Given the description of an element on the screen output the (x, y) to click on. 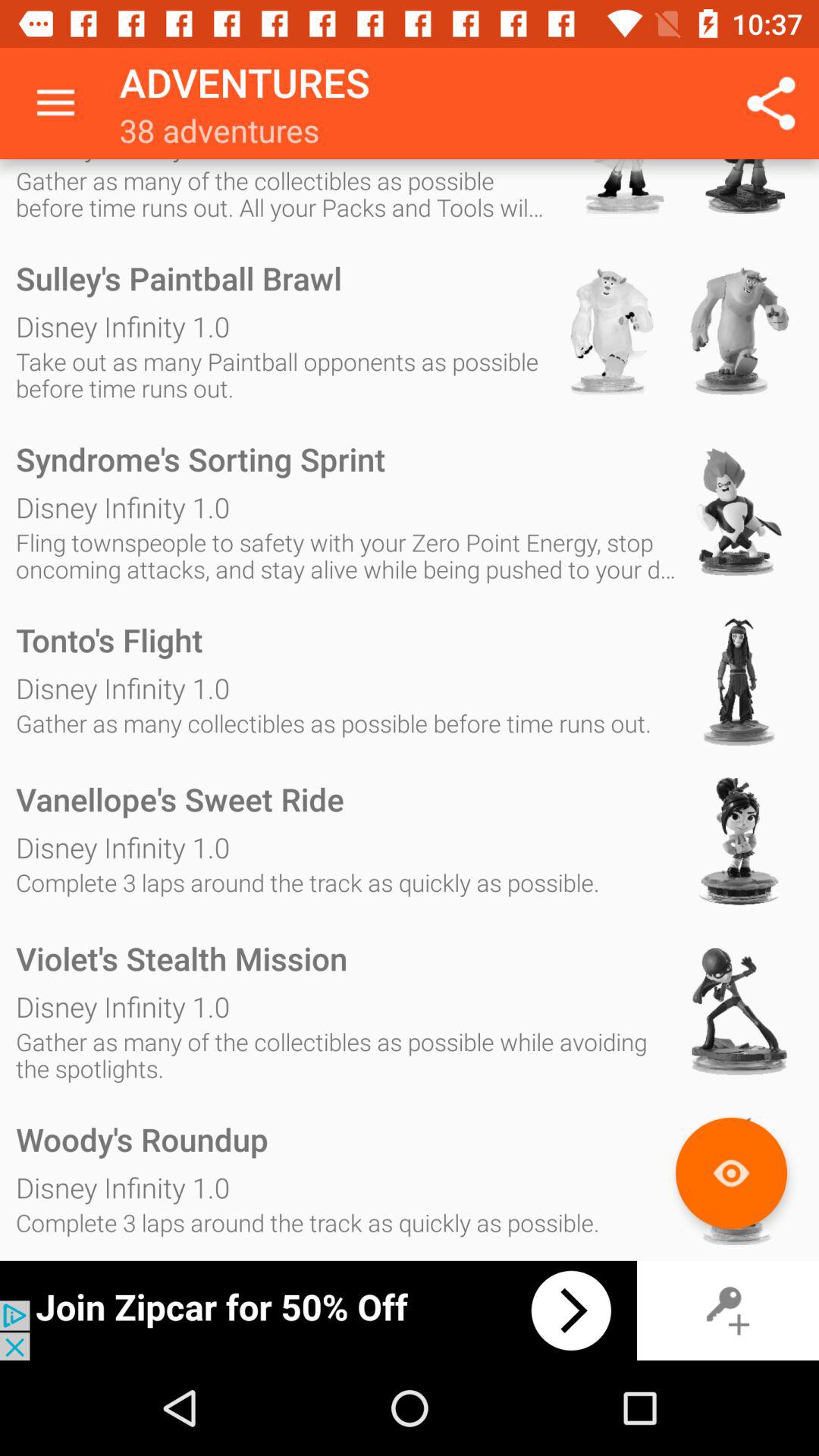
go to advertisement (318, 1310)
